Given the description of an element on the screen output the (x, y) to click on. 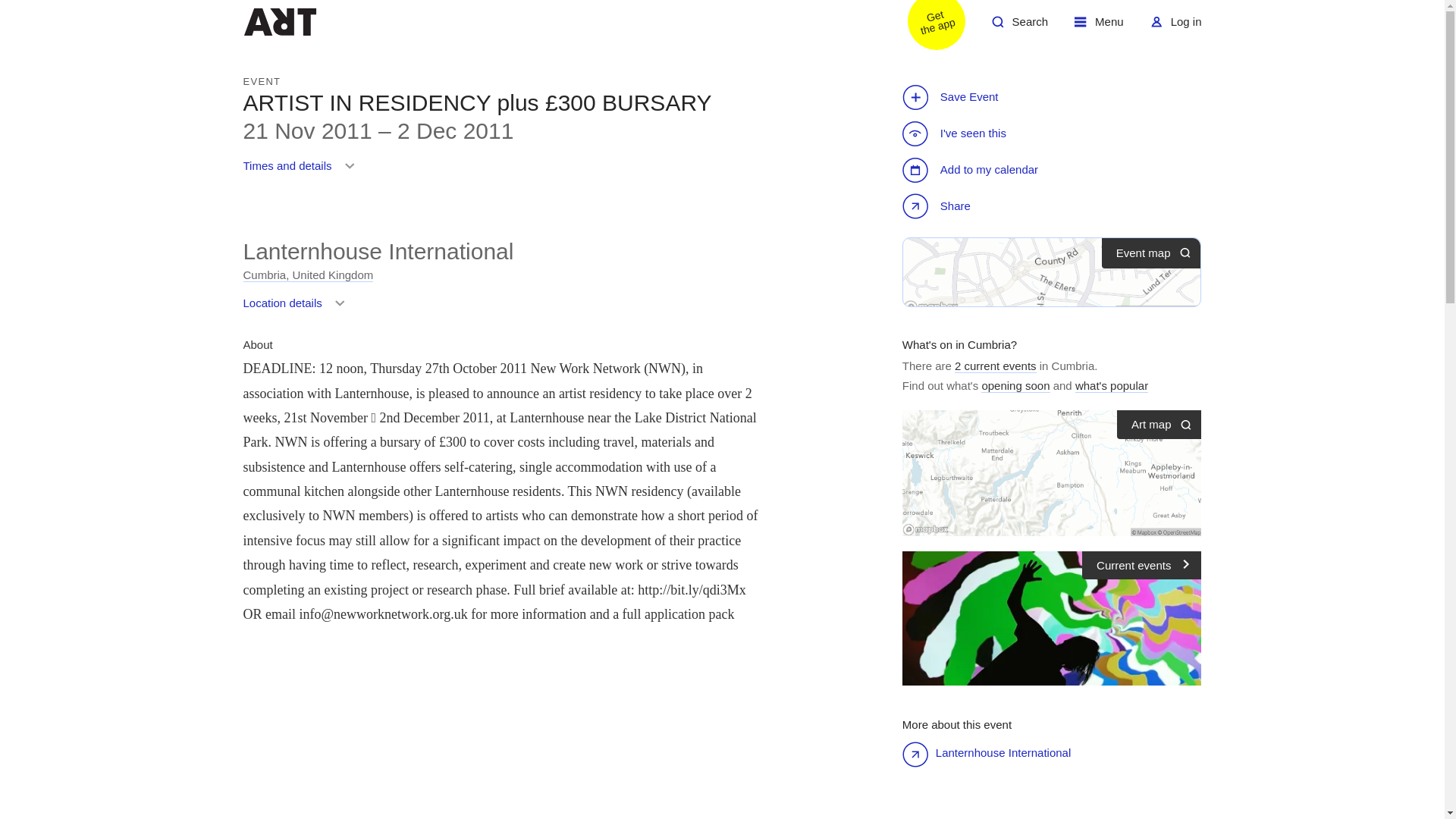
What's on in Cumbria? (1019, 26)
opening soon (1099, 26)
Cumbria, United Kingdom (959, 344)
2 current events (1015, 386)
Welcome to ArtRabbit (1176, 26)
